Given the description of an element on the screen output the (x, y) to click on. 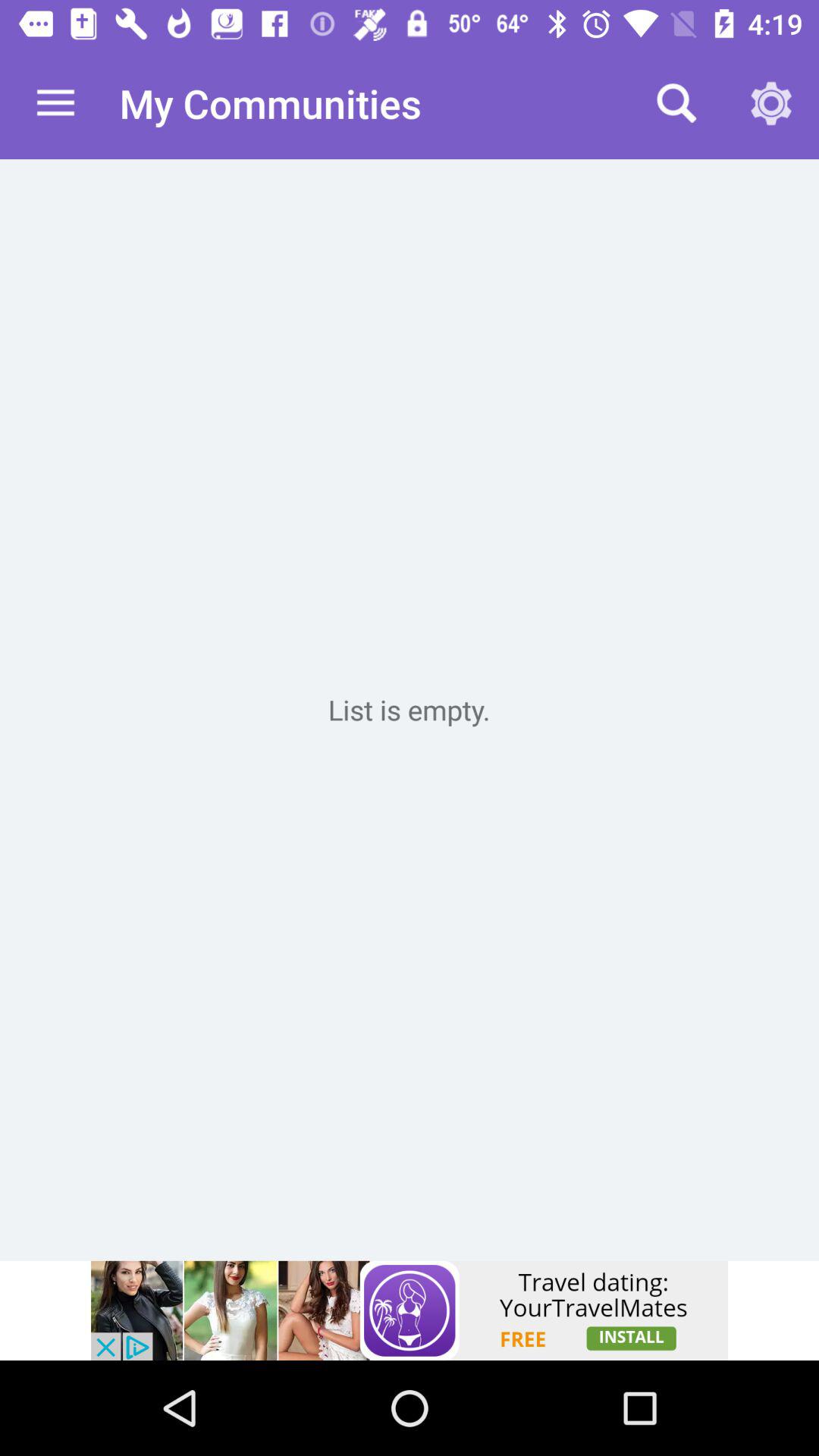
opens the advertisement (409, 1310)
